Given the description of an element on the screen output the (x, y) to click on. 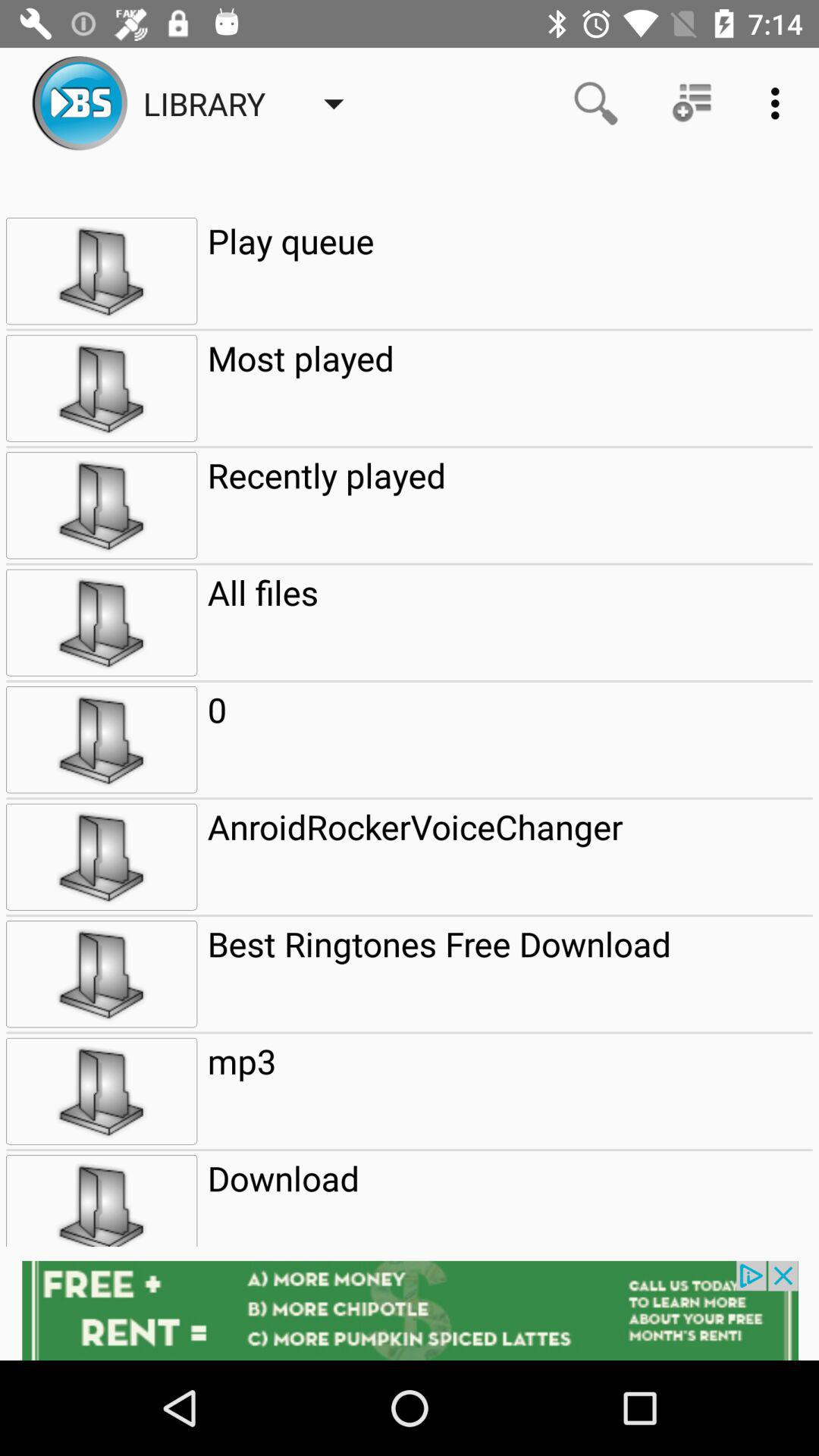
see advertisement (409, 1310)
